Given the description of an element on the screen output the (x, y) to click on. 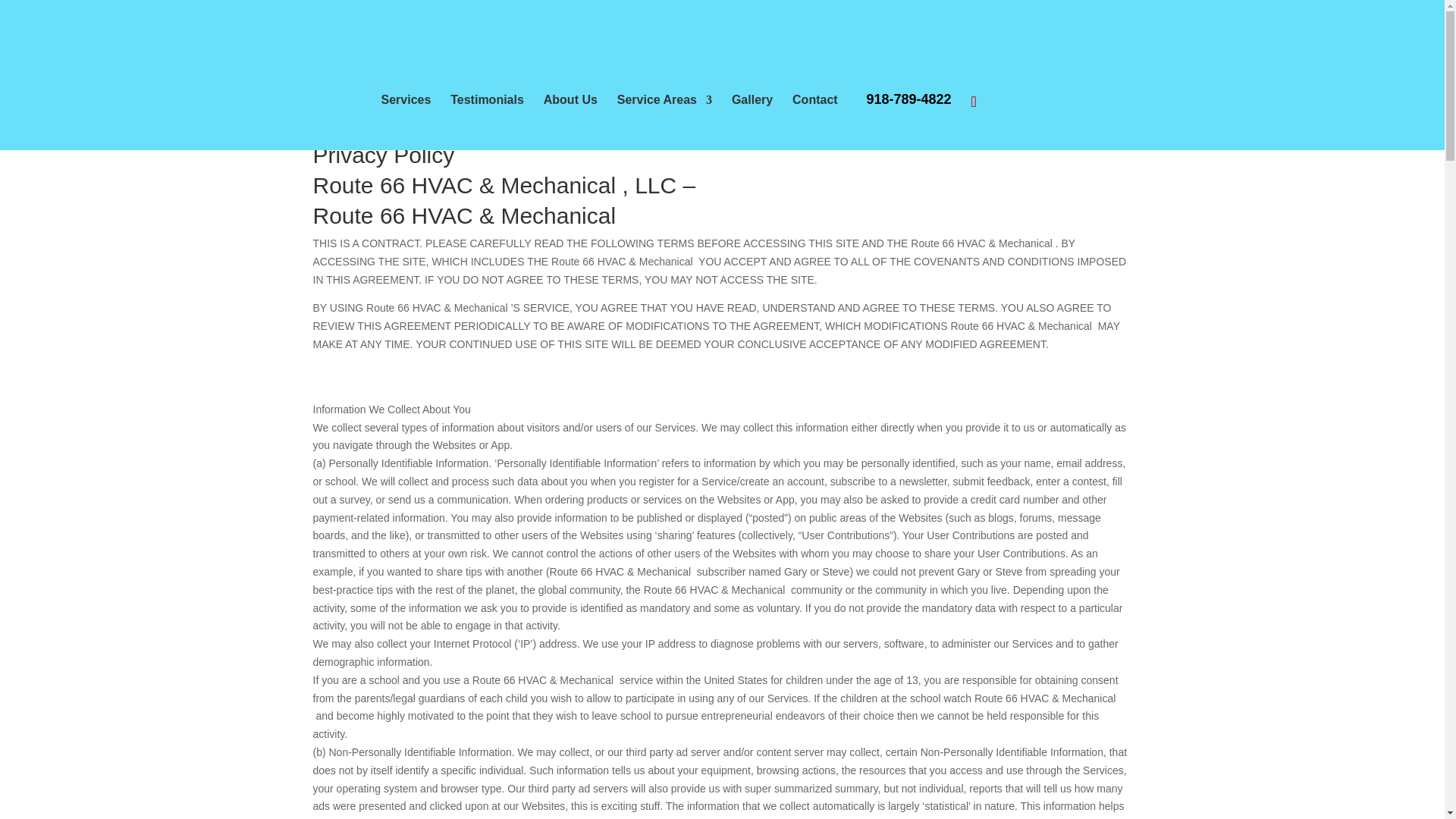
Testimonials (486, 100)
Service Areas (664, 100)
Contact (815, 100)
Services (405, 100)
918-789-4822 (908, 99)
About Us (569, 100)
Gallery (752, 100)
